Given the description of an element on the screen output the (x, y) to click on. 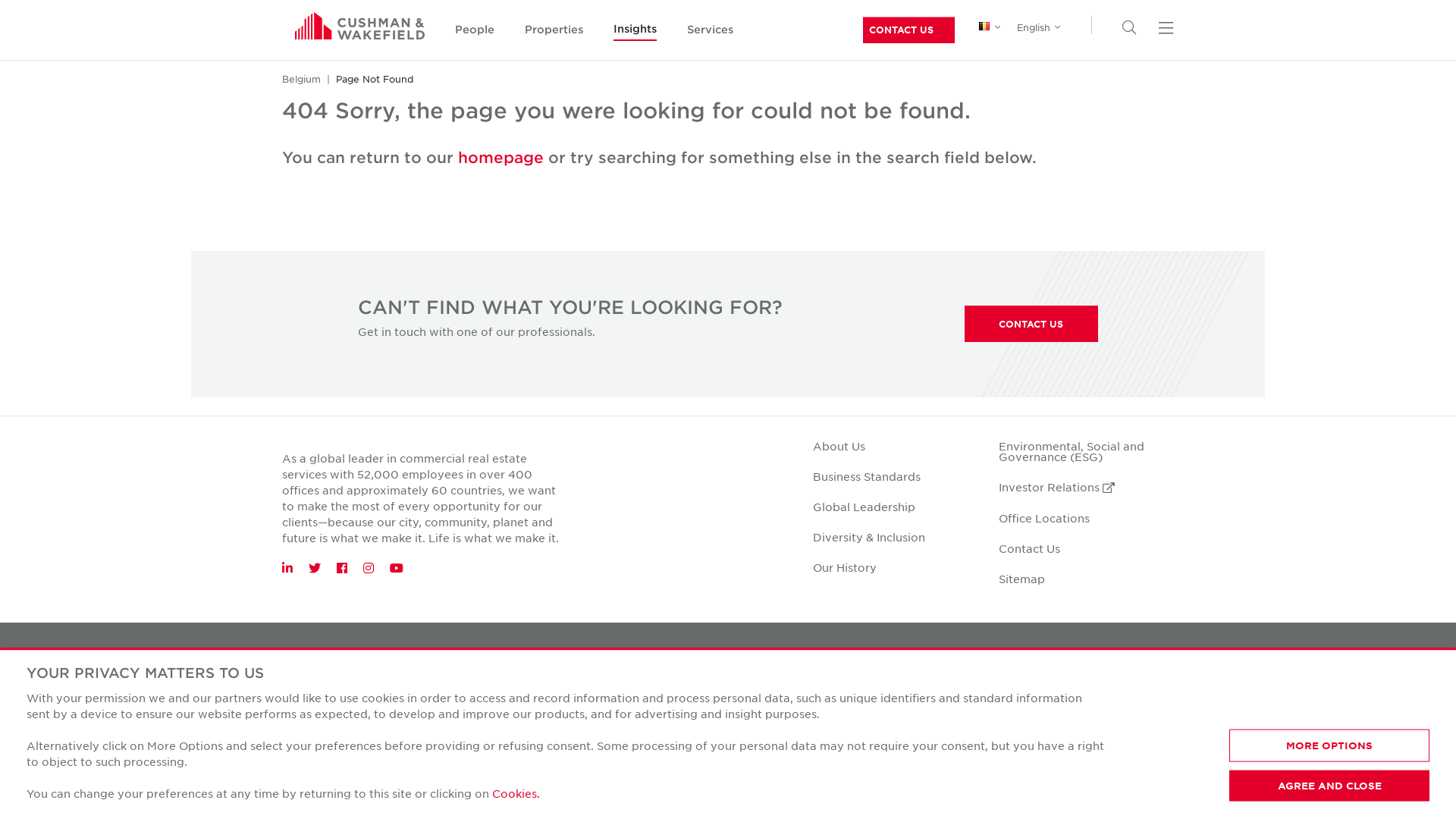
Germany Element type: text (1077, 274)
Hungary Element type: text (1077, 350)
Properties Element type: text (553, 30)
Italy Element type: text (1077, 476)
CONTACT US Element type: text (1031, 323)
Ireland Element type: text (1077, 426)
MORE OPTIONS Element type: text (1328, 745)
Georgia Element type: text (1077, 249)
About Us Element type: text (838, 445)
Belgium Element type: text (301, 78)
Contact Us Element type: text (1029, 548)
Norway Element type: text (1077, 752)
Israel Element type: text (1077, 451)
Finland Element type: text (1077, 199)
Environmental, Social and Governance (ESG) Element type: text (1071, 451)
Greater China Element type: text (1077, 300)
Netherlands Element type: text (1077, 677)
AGREE AND CLOSE Element type: text (1328, 784)
CONTACT US Element type: text (900, 28)
Croatia Element type: text (1077, 123)
Japan Element type: text (1077, 501)
Kosovo Element type: text (1077, 551)
homepage  Element type: text (503, 156)
Czech Republic Element type: text (1077, 148)
New Zealand Element type: text (1077, 702)
India Element type: text (1077, 375)
Kazakhstan Element type: text (1077, 526)
Cookies. Element type: text (515, 792)
Bulgaria Element type: text (1077, 22)
Canada Element type: text (1077, 47)
Malaysia Element type: text (1077, 602)
Chile Element type: text (1077, 73)
Montenegro Element type: text (1077, 652)
Nederlands Element type: text (1059, 43)
Diversity & Inclusion Element type: text (868, 536)
Global Leadership Element type: text (863, 506)
Indonesia Element type: text (1077, 400)
Privacy & Cookies Element type: text (324, 657)
Greece Element type: text (1077, 325)
Services Element type: text (710, 30)
Investor Relations
External Link Element type: text (1056, 486)
Business Standards Element type: text (866, 476)
Luxembourg Element type: text (1077, 576)
Denmark Element type: text (1077, 173)
Colombia Element type: text (1077, 98)
People Element type: text (474, 30)
Philippines Element type: text (1077, 803)
Office Locations Element type: text (1043, 517)
Insights Element type: text (634, 29)
Sitemap Element type: text (1021, 578)
Mexico Element type: text (1077, 627)
Our History Element type: text (844, 567)
France Element type: text (1077, 224)
North Macedonia Element type: text (1077, 727)
Peru Element type: text (1077, 778)
